Given the description of an element on the screen output the (x, y) to click on. 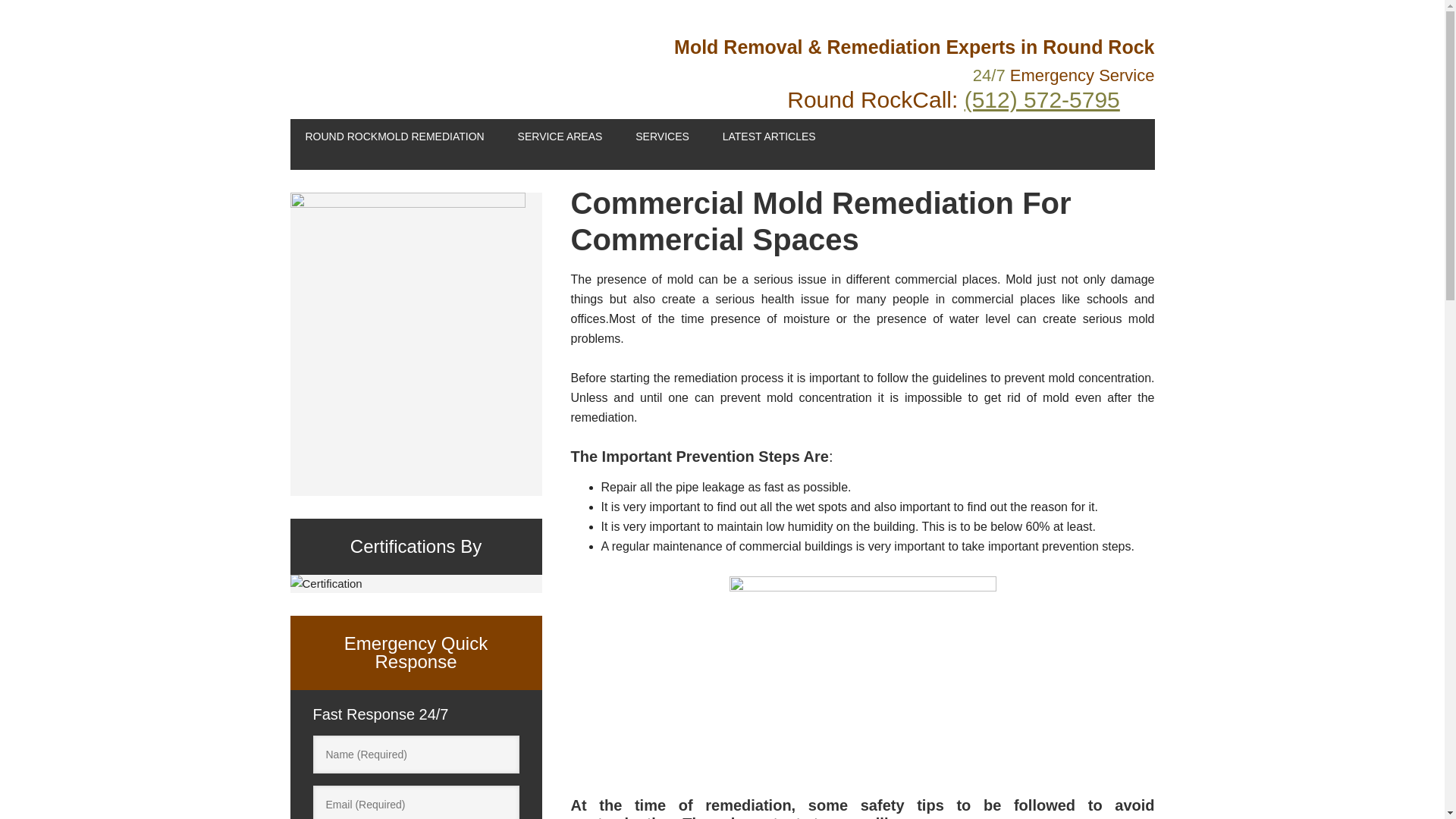
SERVICE AREAS (559, 135)
MOLD REMEDIATION ROUND ROCK (392, 53)
LATEST ARTICLES (769, 135)
SERVICES (662, 135)
ROUND ROCKMOLD REMEDIATION (394, 135)
